Given the description of an element on the screen output the (x, y) to click on. 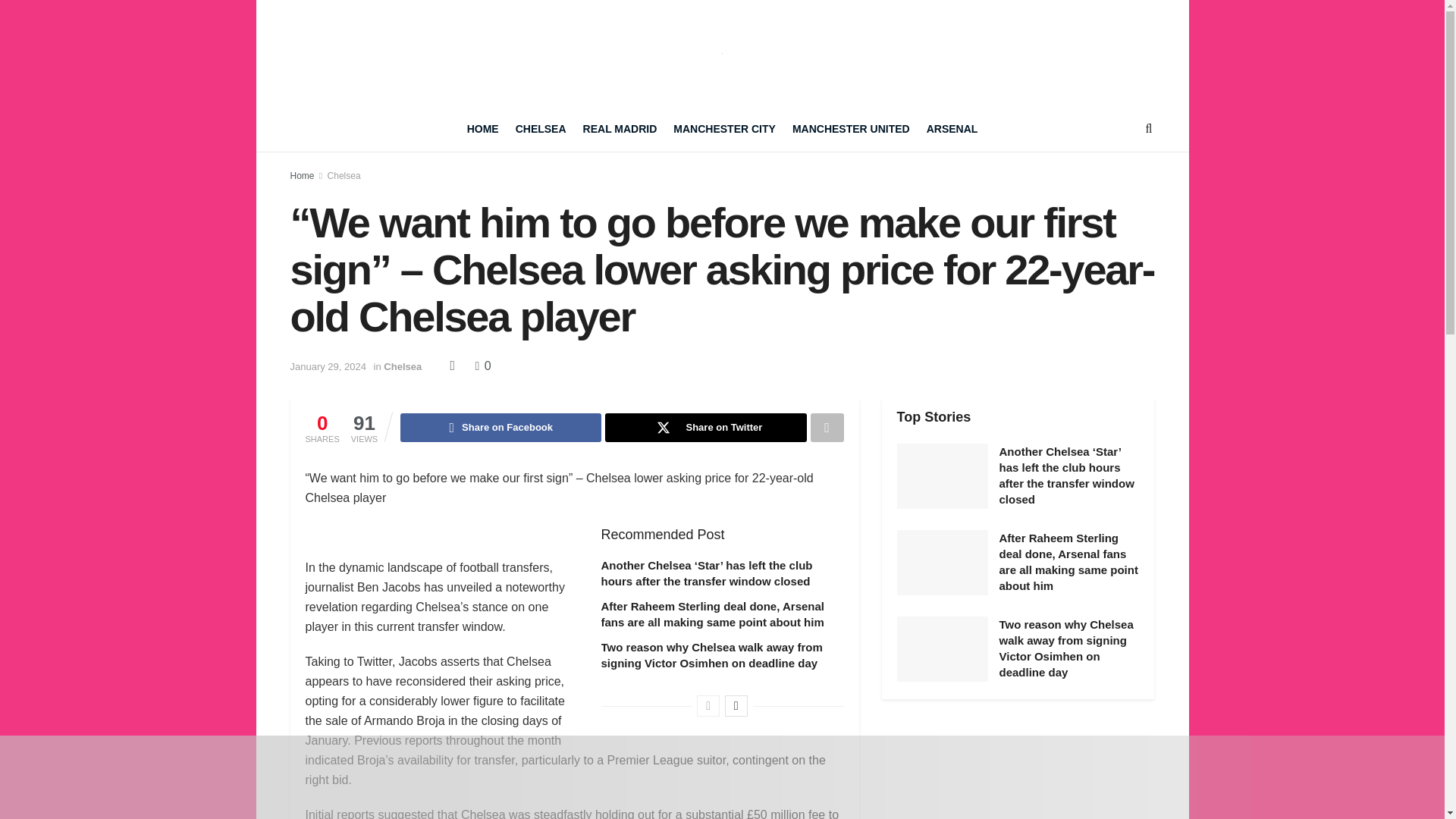
Share on Facebook (500, 427)
Next (736, 705)
Chelsea (344, 175)
ARSENAL (952, 128)
Previous (708, 705)
Chelsea (403, 366)
0 (482, 365)
REAL MADRID (620, 128)
Home (301, 175)
Share on Twitter (705, 427)
